Given the description of an element on the screen output the (x, y) to click on. 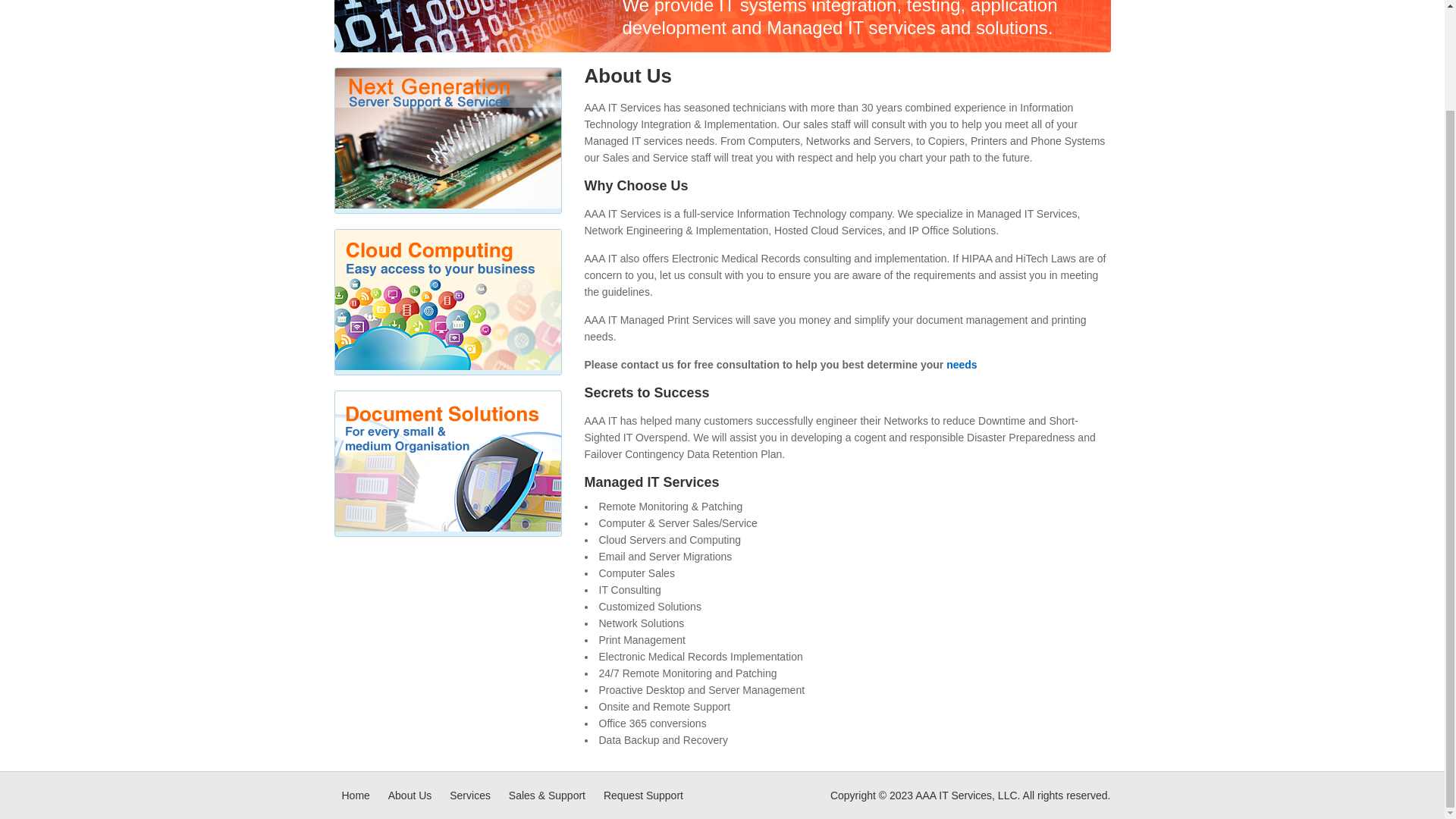
needs (961, 364)
Services (469, 795)
About Us (410, 795)
Home (354, 795)
Request Support (643, 795)
